Given the description of an element on the screen output the (x, y) to click on. 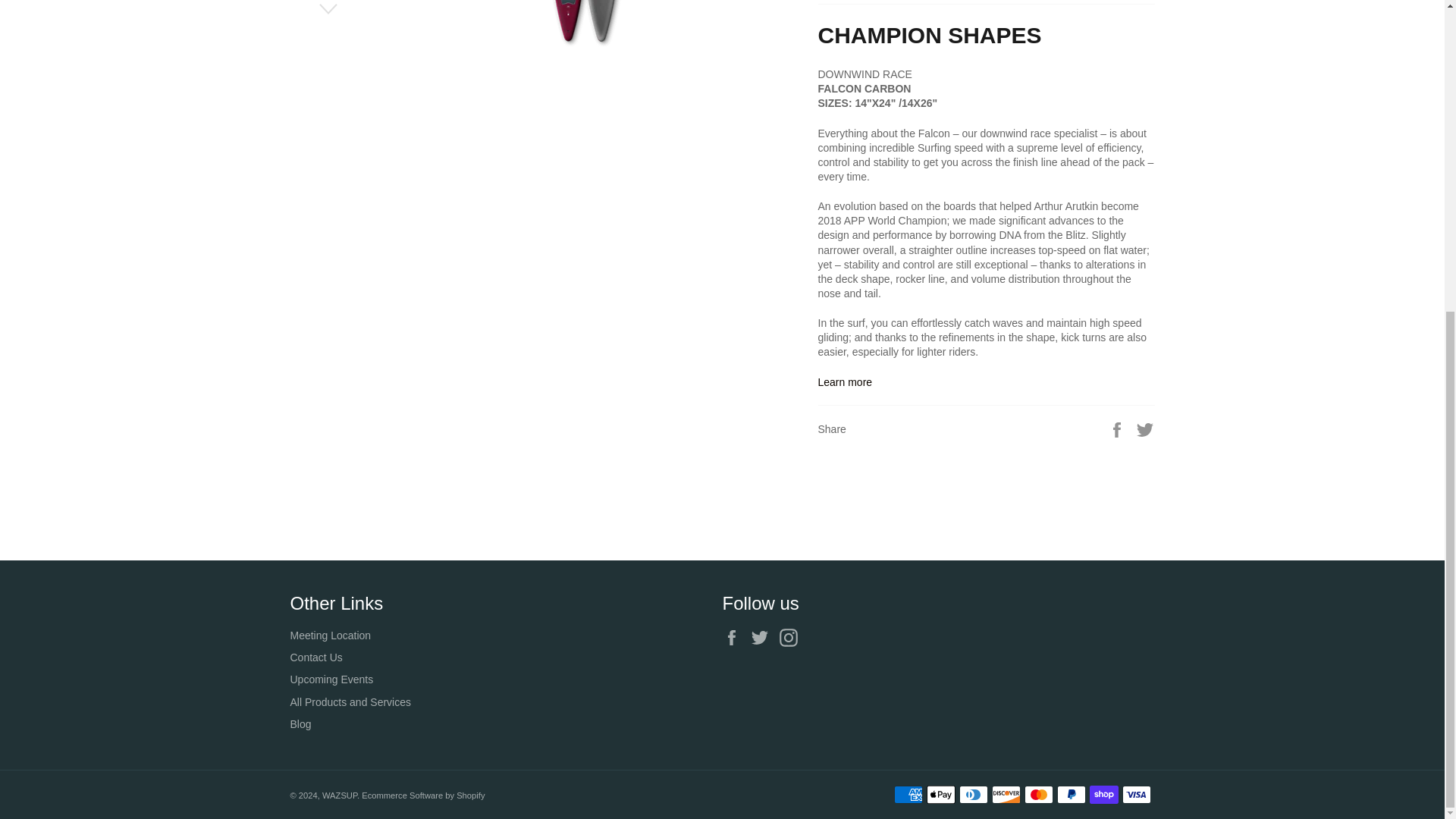
WAZSUP on Facebook (735, 637)
WAZSUP on Twitter (763, 637)
WAZSUP on Instagram (791, 637)
Tweet on Twitter (1144, 428)
Share on Facebook (1118, 428)
Fanatic Falcon (844, 381)
